Given the description of an element on the screen output the (x, y) to click on. 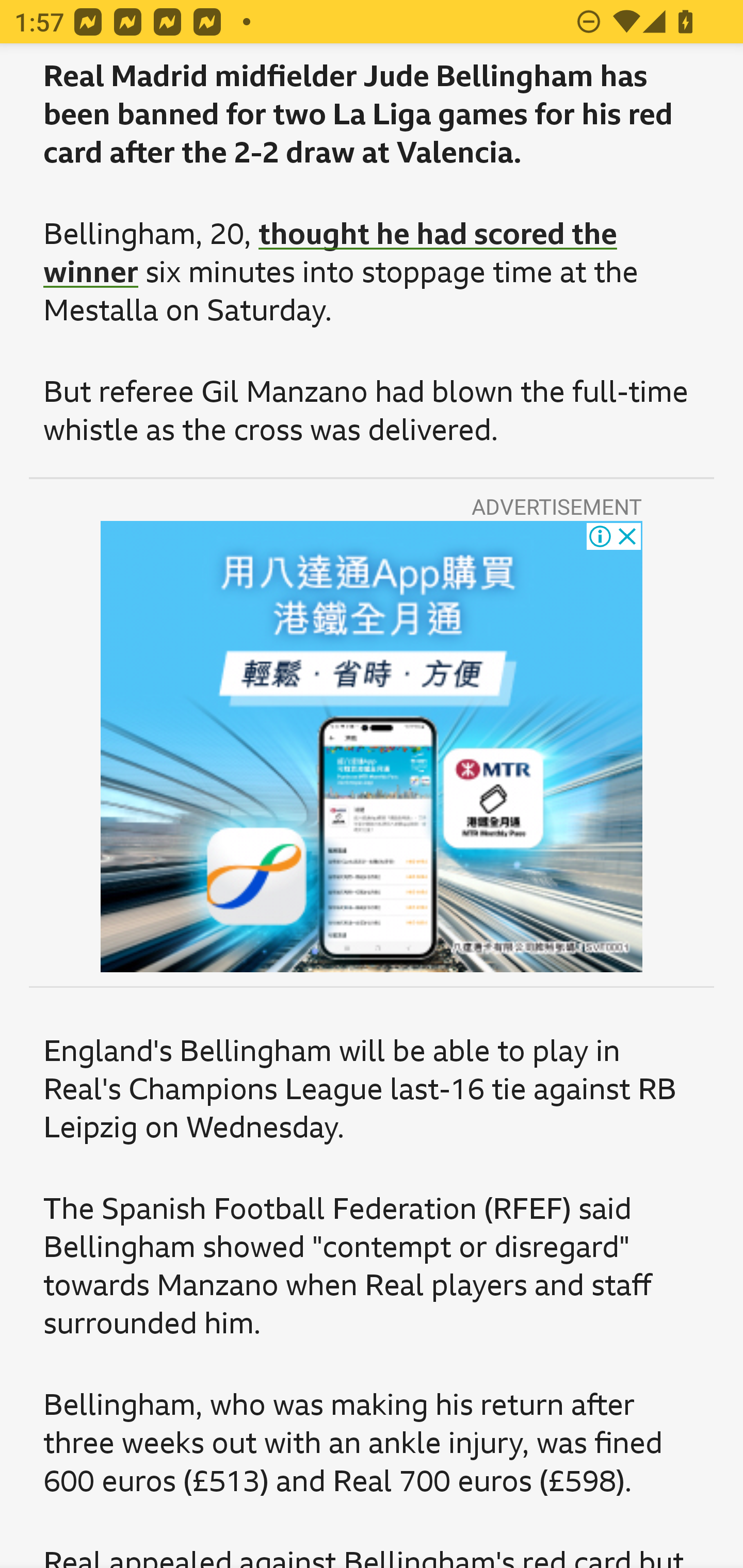
Advertisement (371, 746)
